Given the description of an element on the screen output the (x, y) to click on. 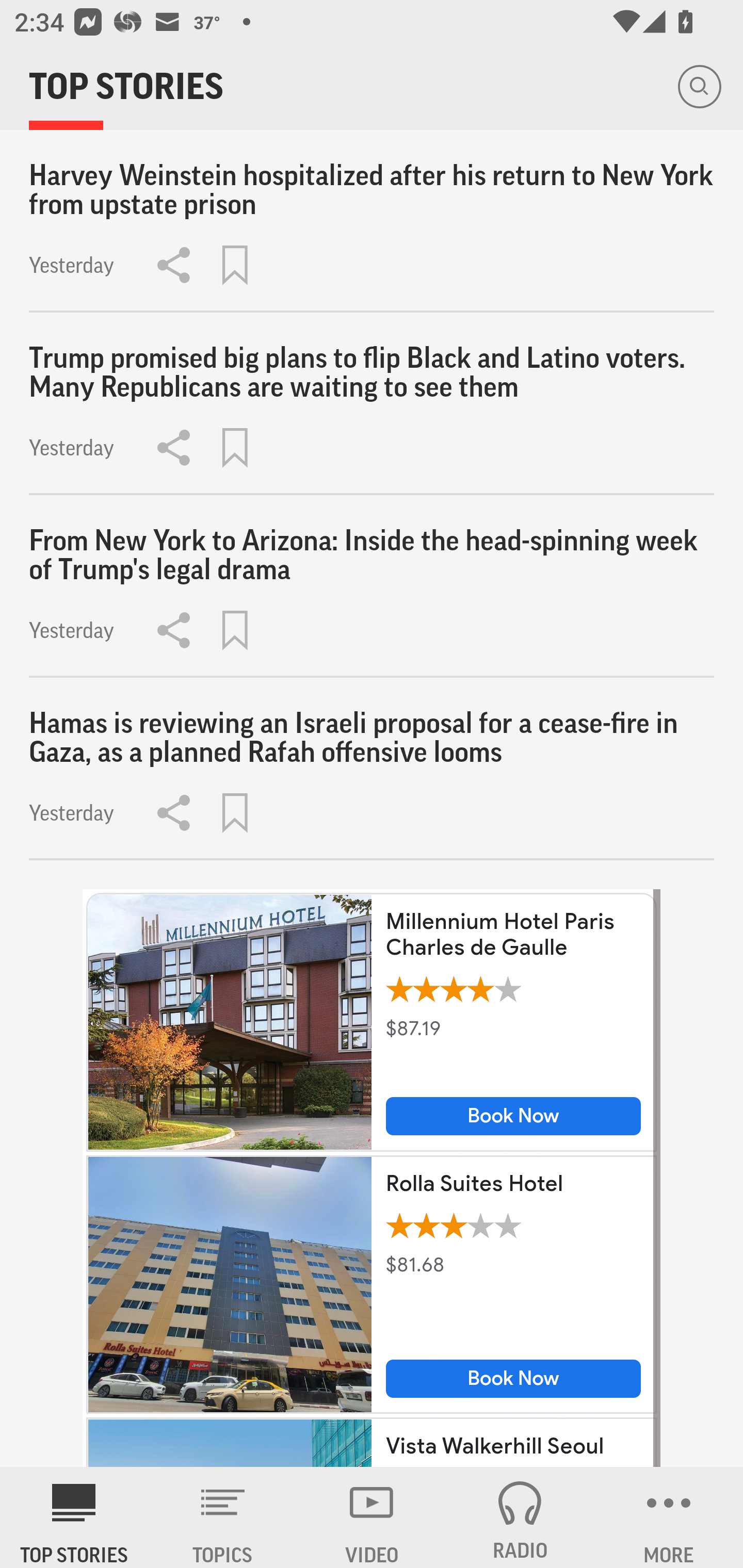
AP News TOP STORIES (74, 1517)
TOPICS (222, 1517)
VIDEO (371, 1517)
RADIO (519, 1517)
MORE (668, 1517)
